Given the description of an element on the screen output the (x, y) to click on. 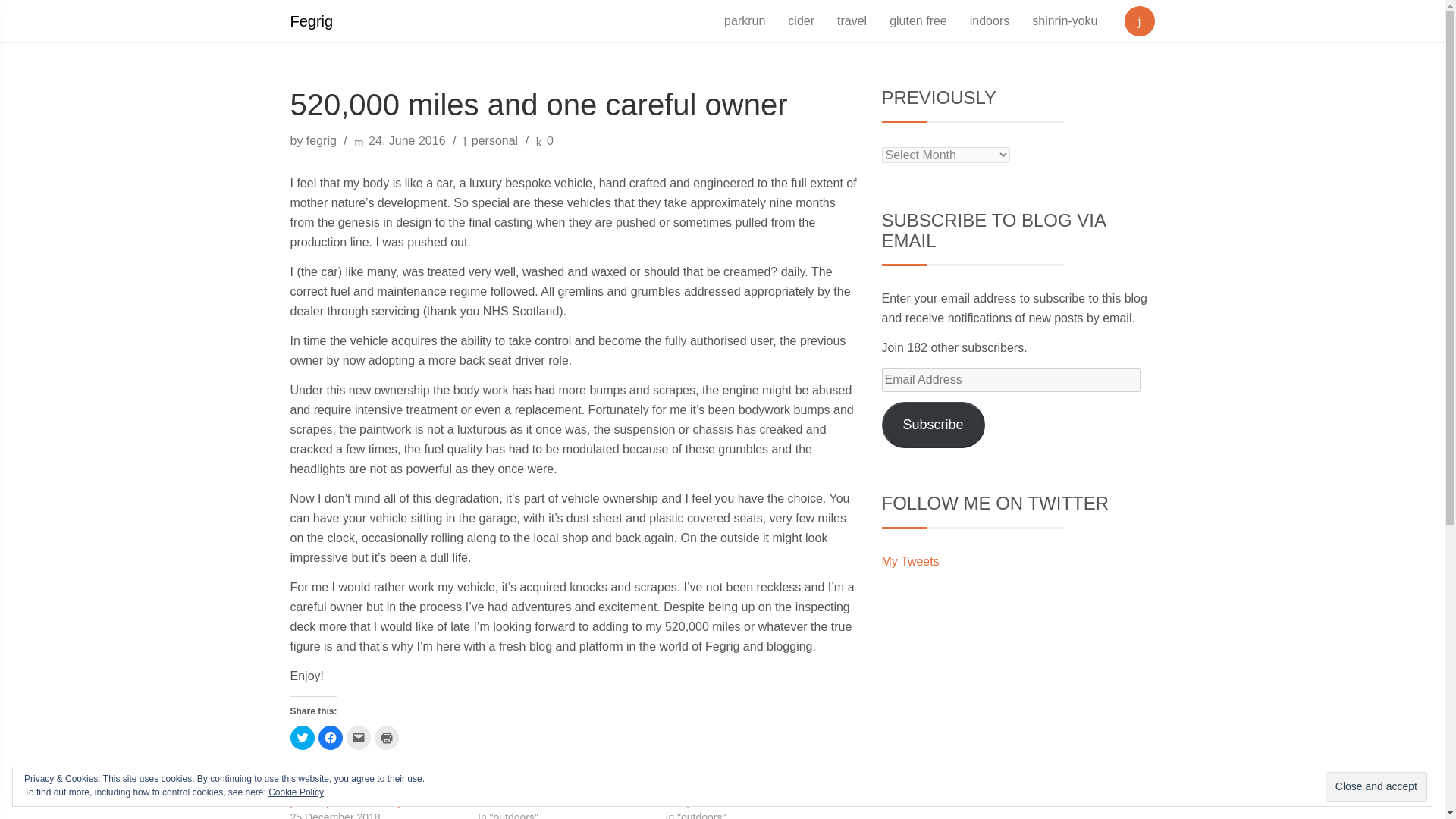
personal (494, 140)
shinrin-yoku (1064, 21)
Close and accept (1375, 786)
Click to share on Twitter (301, 737)
parkrun (744, 21)
travel (851, 21)
indoors (989, 21)
cider (800, 21)
Egged on at Eglinton (526, 787)
Fegrig (312, 21)
